Given the description of an element on the screen output the (x, y) to click on. 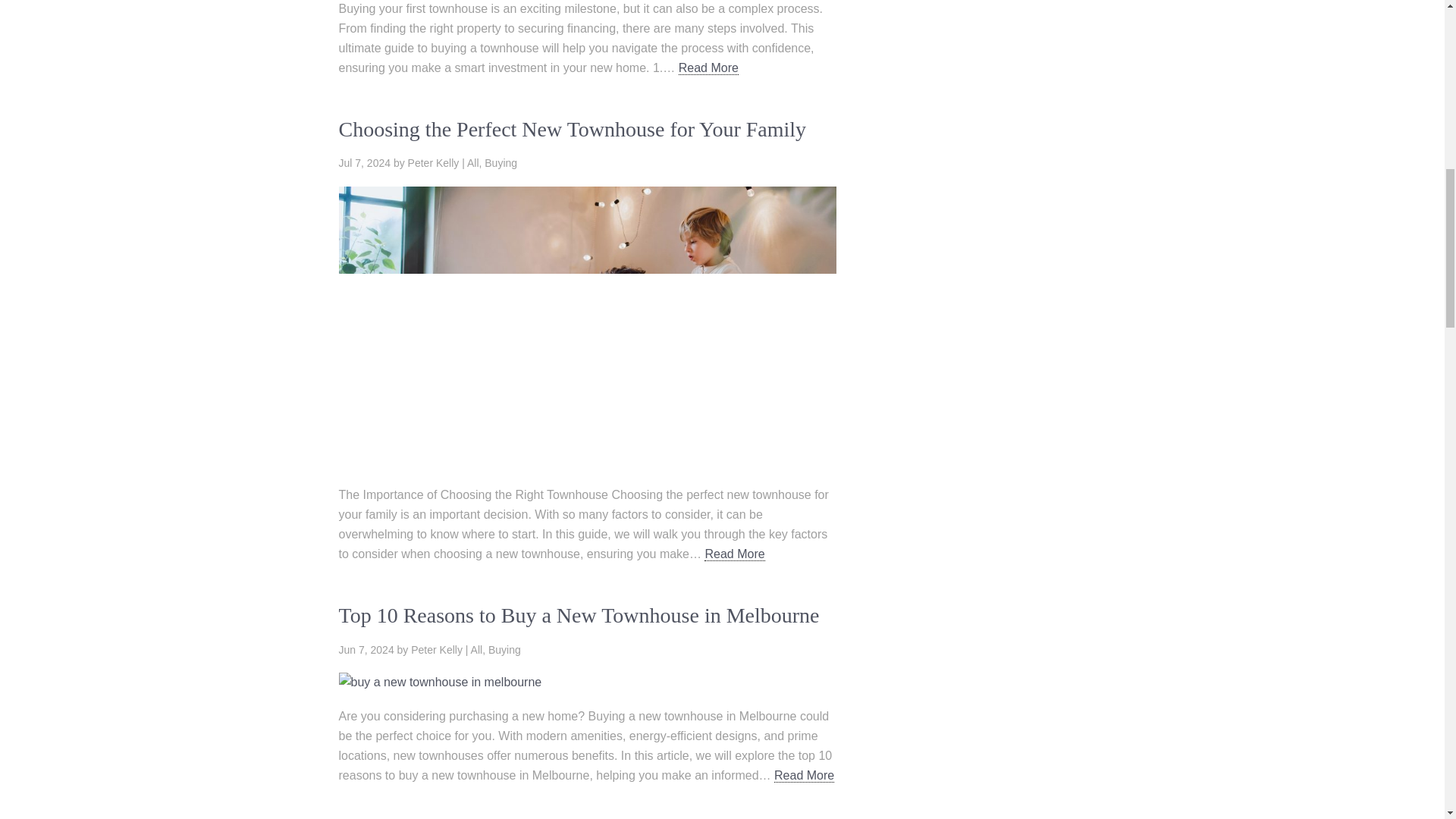
Peter Kelly (436, 648)
Peter Kelly (433, 162)
All (476, 648)
Read More (708, 68)
All (473, 162)
Buying (500, 162)
Choosing the Perfect New Townhouse for Your Family (571, 128)
Buying (504, 648)
Posts by Peter Kelly (436, 648)
Read More (734, 554)
